Given the description of an element on the screen output the (x, y) to click on. 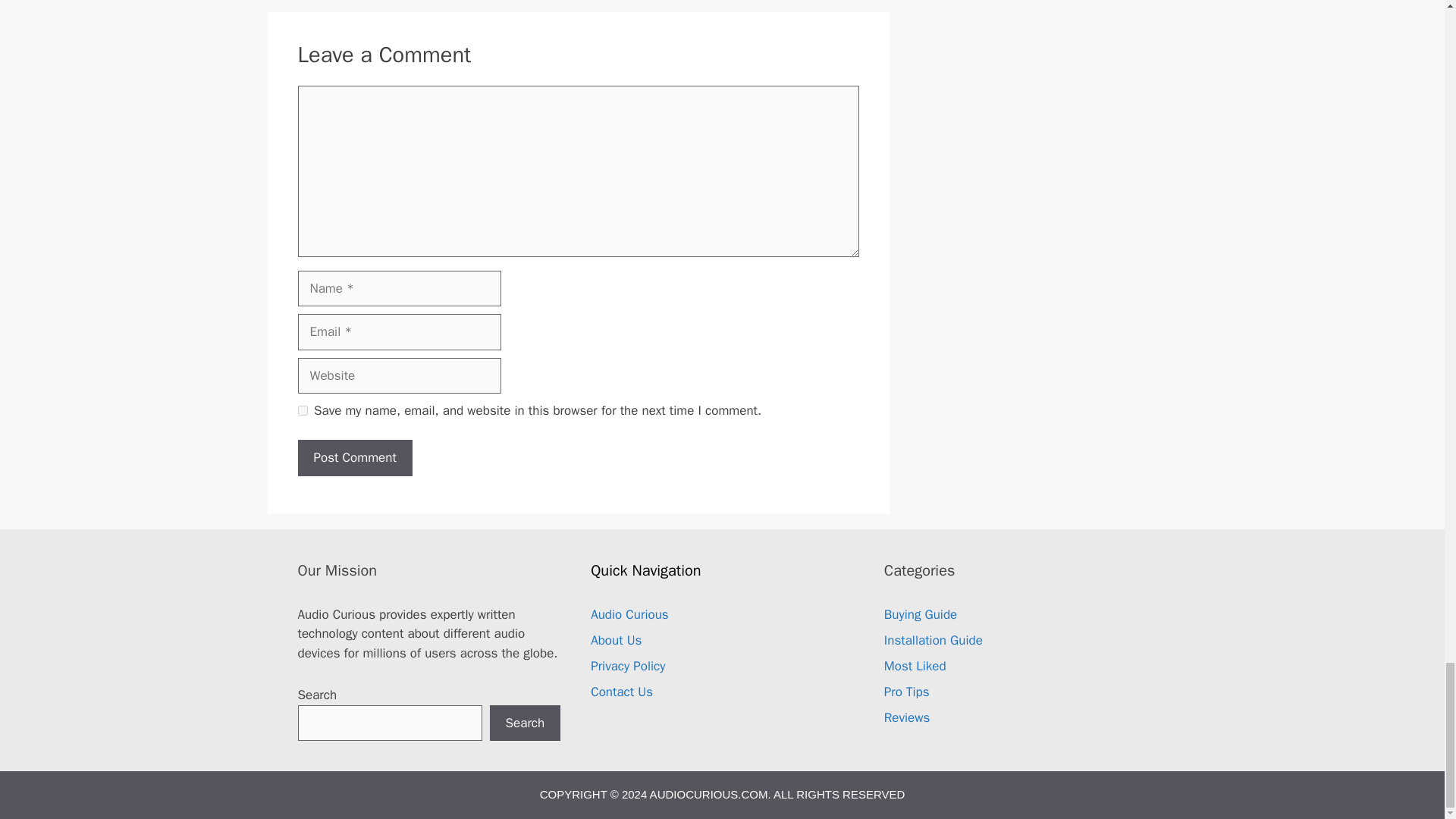
Post Comment (354, 457)
yes (302, 410)
Post Comment (354, 457)
About Us (616, 640)
Search (524, 723)
Reviews (906, 717)
Privacy Policy (628, 666)
Contact Us (621, 691)
Audio Curious (629, 614)
Pro Tips (906, 691)
